Given the description of an element on the screen output the (x, y) to click on. 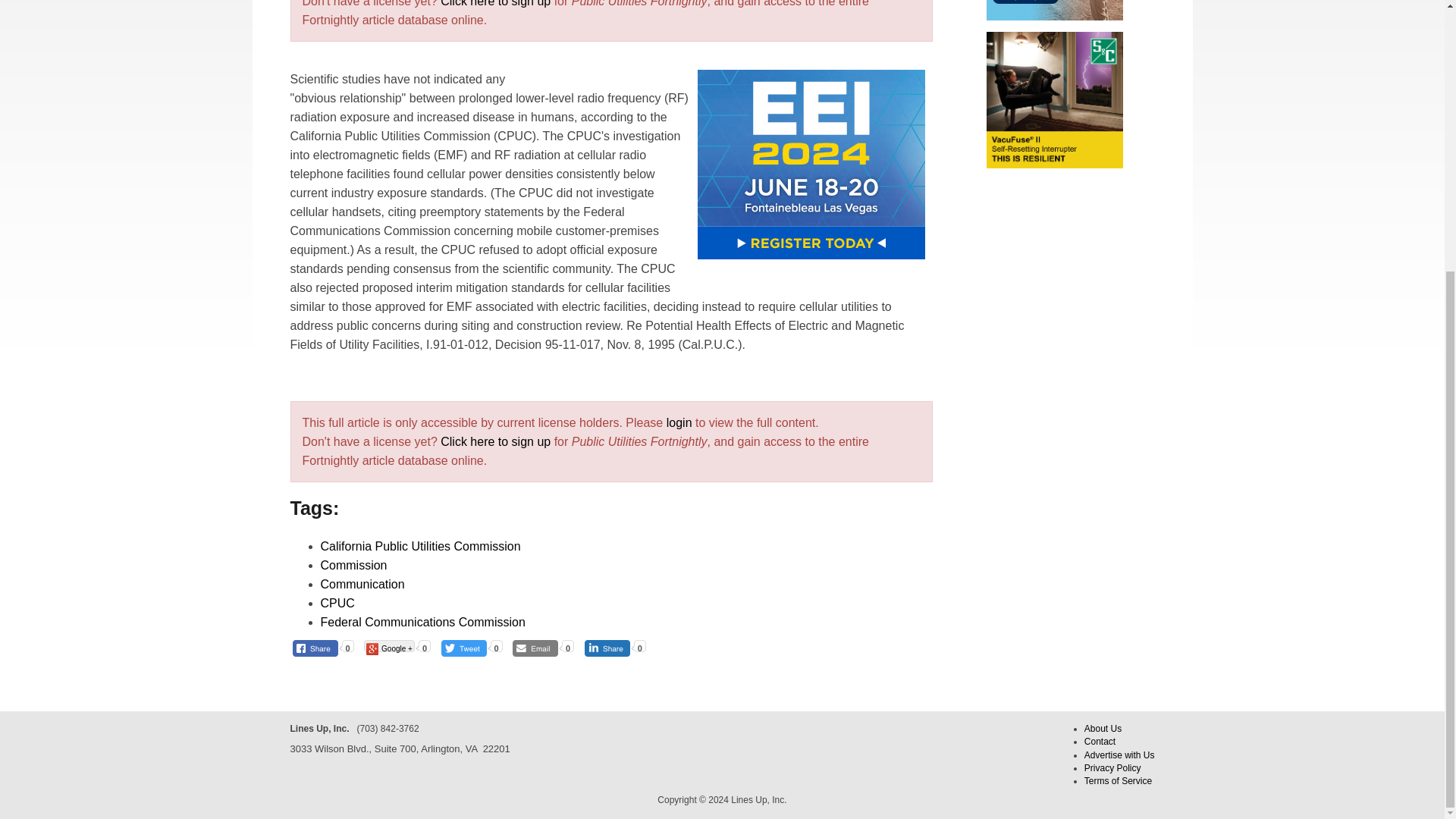
Advertise with Us (1119, 755)
About Us (1102, 728)
Privacy Policy (1112, 767)
California Public Utilities Commission (419, 545)
Federal Communications Commission (422, 621)
Contact (1099, 741)
Communication (362, 584)
Click here to sign up (495, 440)
Terms of Service (1117, 780)
Click here to sign up (495, 3)
login (679, 422)
Commission (353, 564)
CPUC (336, 603)
